Given the description of an element on the screen output the (x, y) to click on. 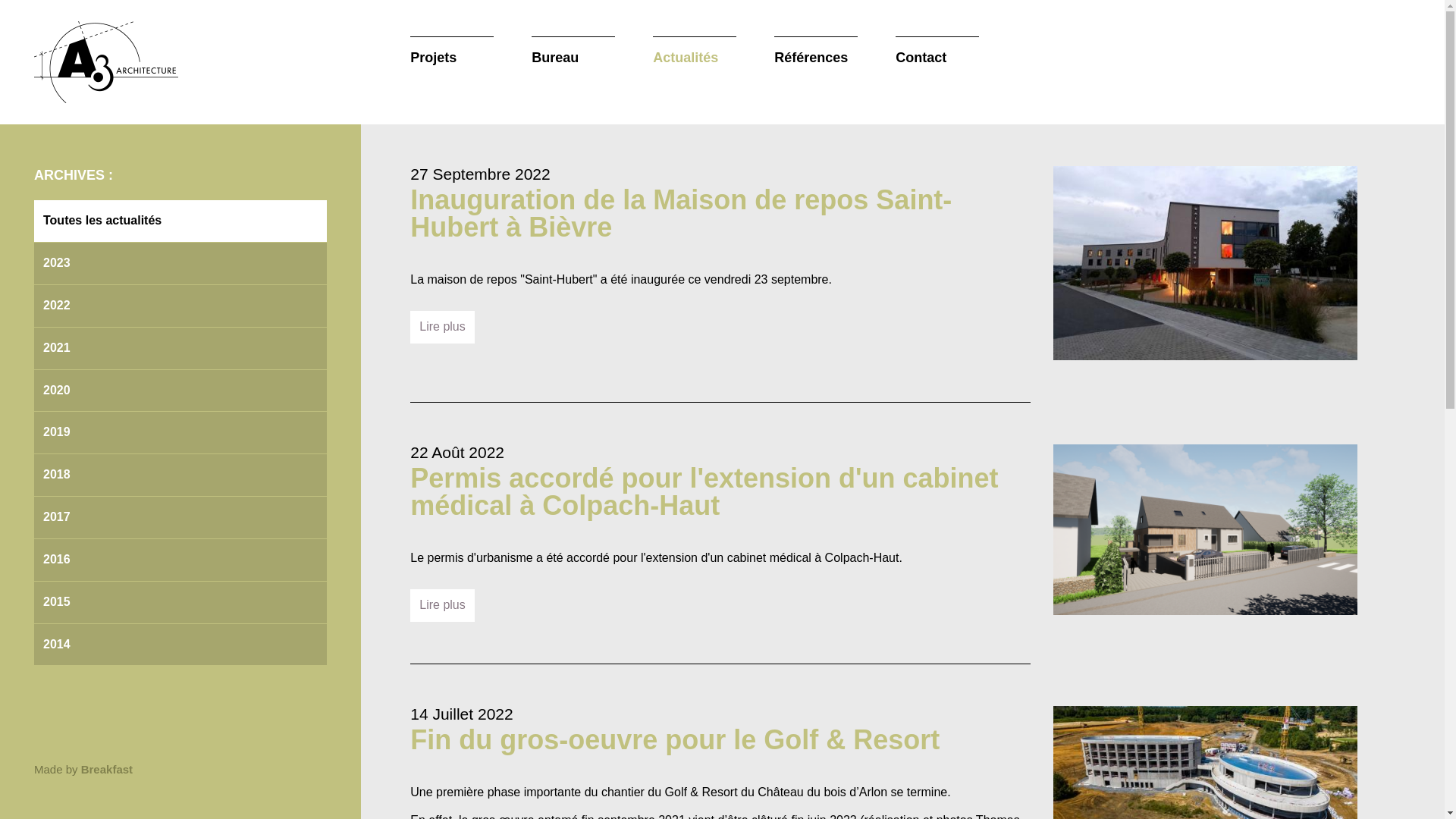
2020 Element type: text (180, 390)
2021 Element type: text (180, 348)
2016 Element type: text (180, 559)
Lire plus Element type: text (441, 605)
Breakfast Element type: text (106, 768)
2022 Element type: text (180, 305)
Contact Element type: text (937, 52)
A3 Architecture Element type: text (106, 62)
2014 Element type: text (180, 644)
Lire plus Element type: text (441, 326)
2023 Element type: text (180, 263)
Bureau Element type: text (573, 52)
2019 Element type: text (180, 432)
2015 Element type: text (180, 602)
Projets Element type: text (451, 52)
2018 Element type: text (180, 474)
2017 Element type: text (180, 517)
